Given the description of an element on the screen output the (x, y) to click on. 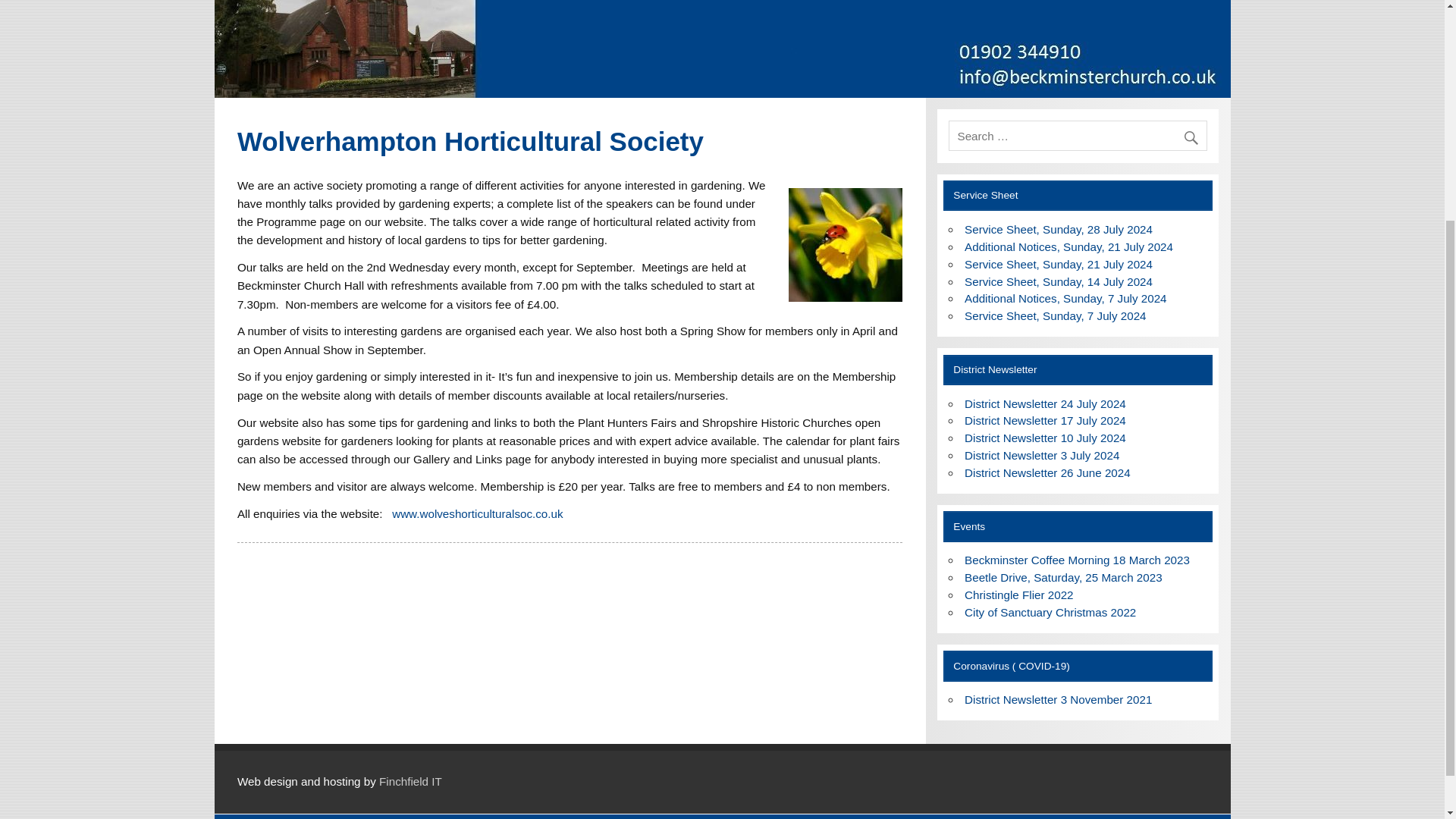
Beetle Drive, Saturday, 25 March 2023 (1062, 576)
District Newsletter 3 November 2021 (1057, 698)
City of Sanctuary Christmas 2022 (1049, 612)
www.wolveshorticulturalsoc.co.uk (476, 513)
Additional Notices, Sunday, 21 July 2024 (1068, 246)
District Newsletter 3 July 2024 (1041, 454)
District Newsletter 10 July 2024 (1044, 437)
Service Sheet, Sunday, 7 July 2024 (1055, 315)
Service Sheet, Sunday, 14 July 2024 (1058, 280)
District Newsletter 26 June 2024 (1047, 472)
District Newsletter 24 July 2024 (1044, 403)
District Newsletter 17 July 2024 (1044, 420)
Beckminster Coffee Morning 18 March 2023 (1076, 559)
Christingle Flier 2022 (1018, 594)
Additional Notices, Sunday, 7 July 2024 (1065, 297)
